Given the description of an element on the screen output the (x, y) to click on. 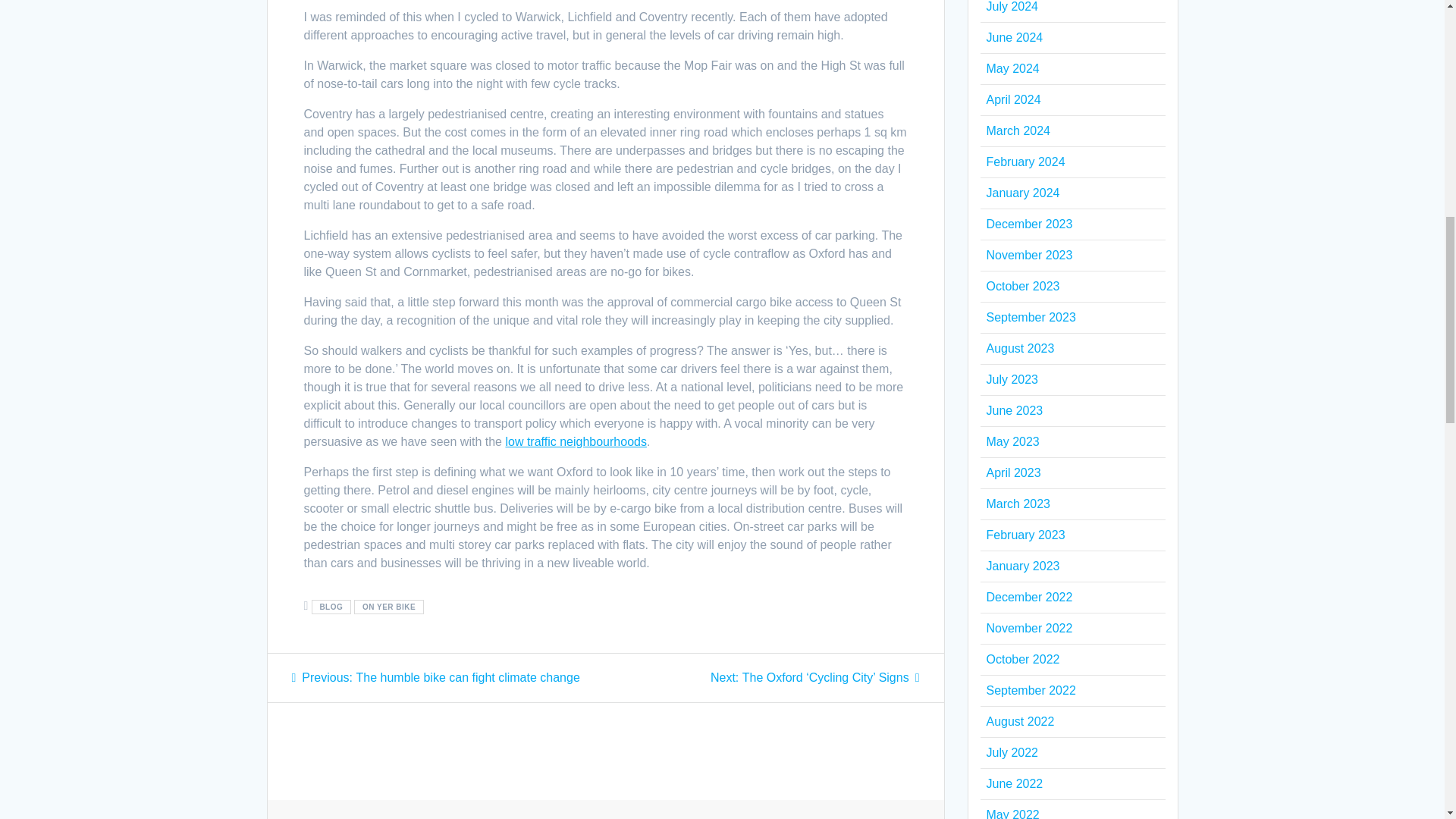
BLOG (330, 606)
low traffic neighbourhoods (575, 440)
ON YER BIKE (388, 606)
